Given the description of an element on the screen output the (x, y) to click on. 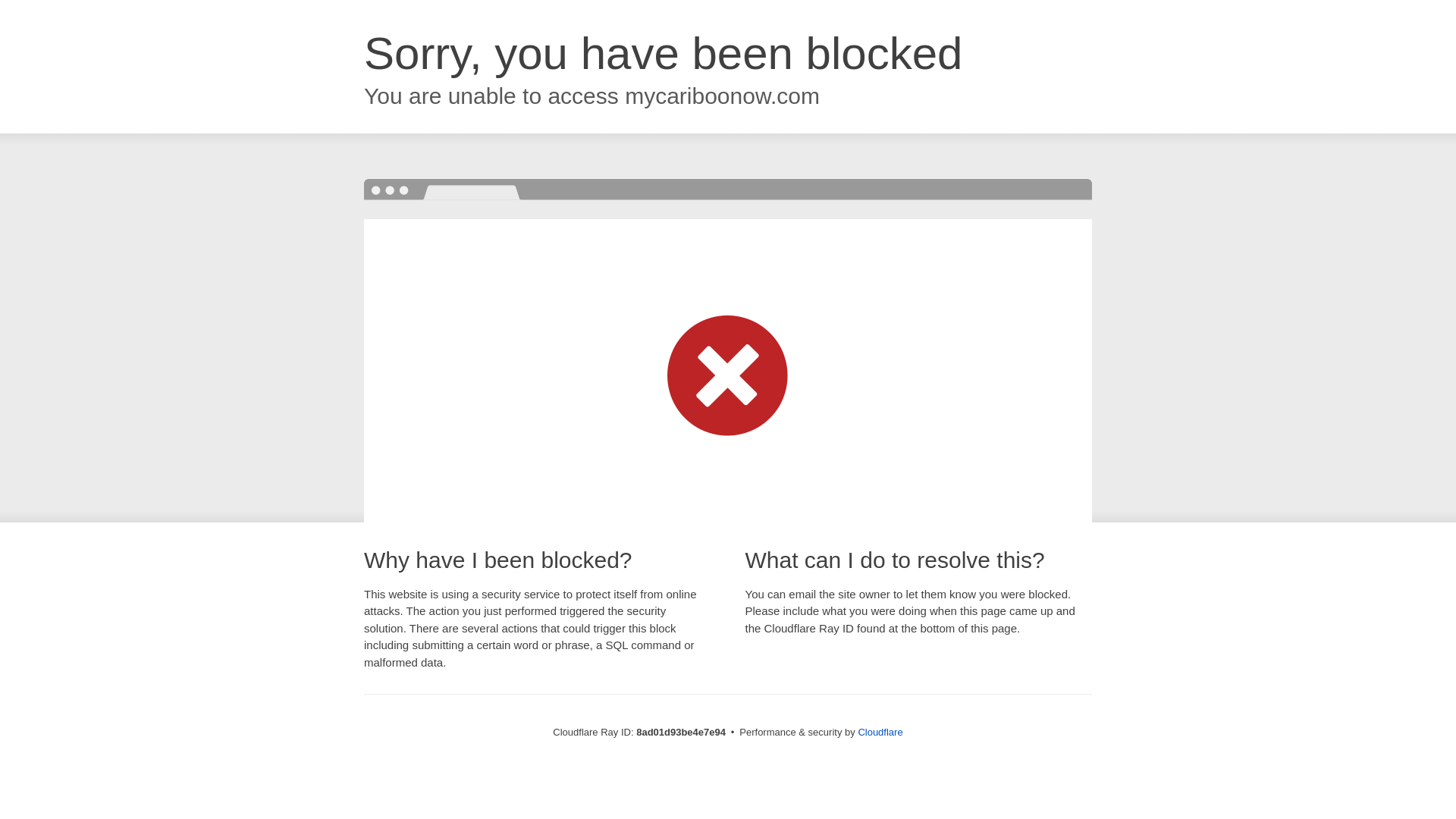
Cloudflare (879, 731)
